Given the description of an element on the screen output the (x, y) to click on. 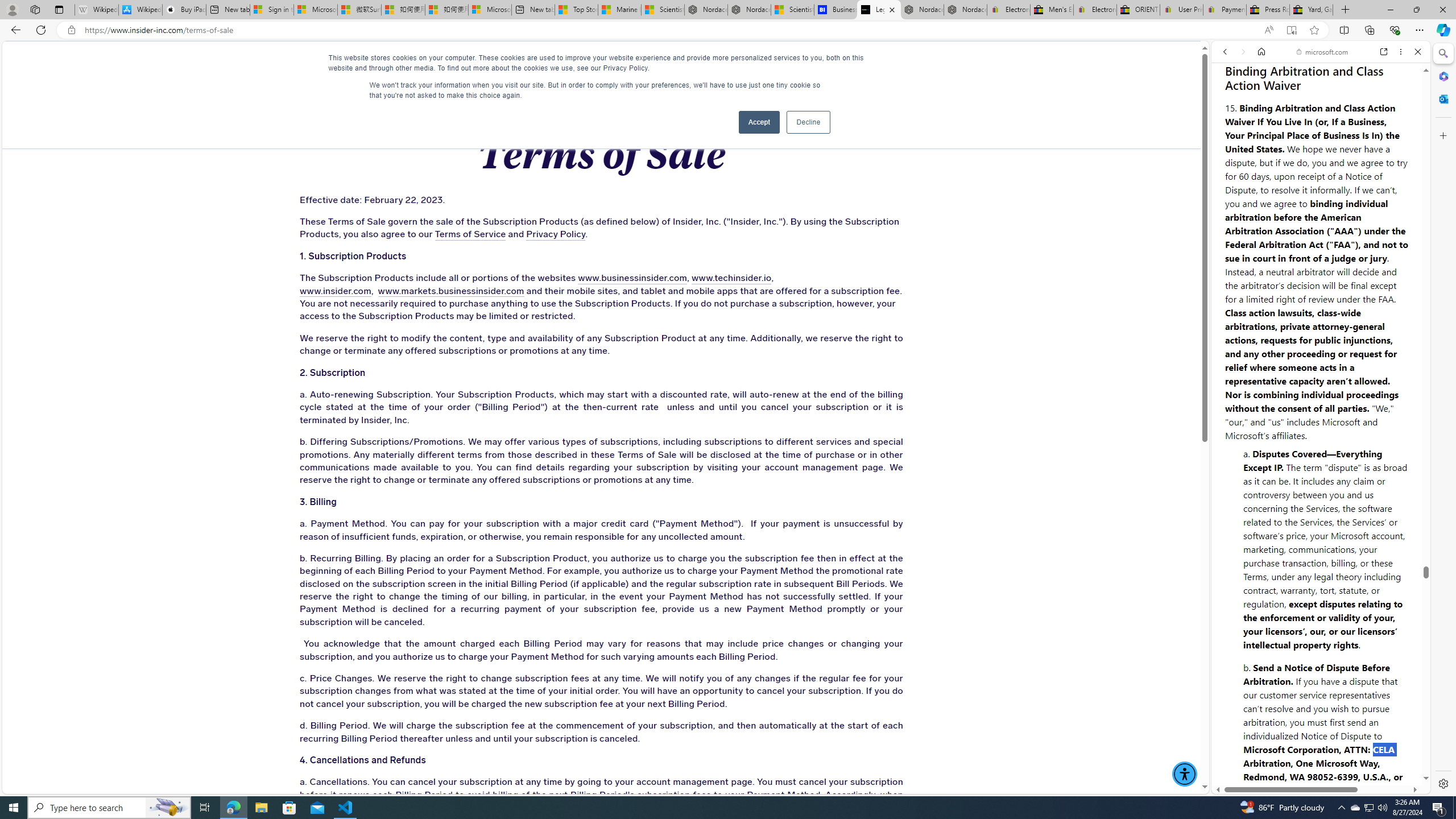
ADVERTISE WITH US (446, 62)
Accept (759, 121)
User Privacy Notice | eBay (1181, 9)
microsoft.com (1323, 51)
